Given the description of an element on the screen output the (x, y) to click on. 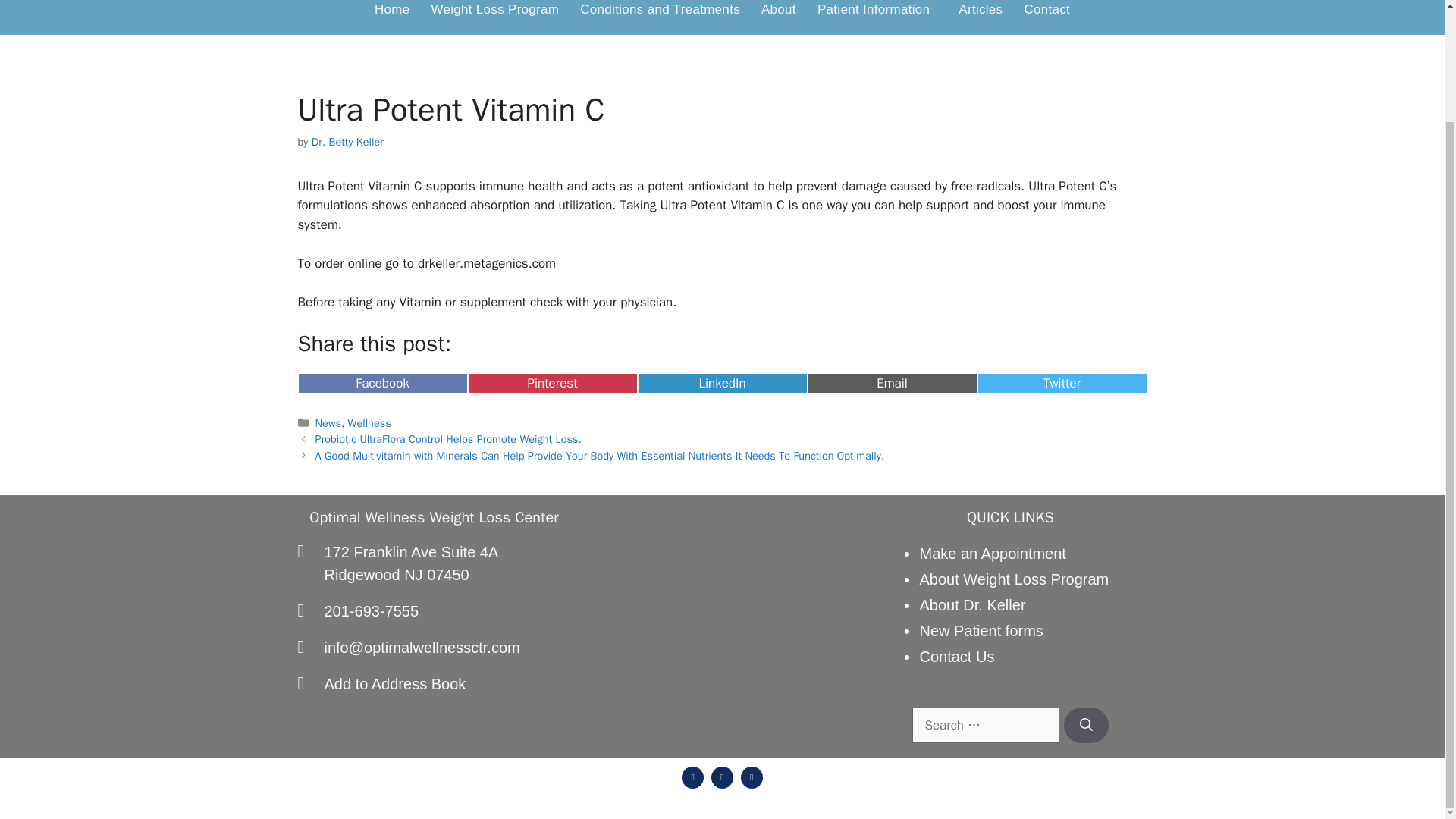
Weight Loss Program (494, 13)
Conditions and Treatments (660, 13)
New Patient forms (980, 630)
Search for: (985, 725)
Previous (433, 563)
Pinterest (447, 438)
LinkedIn (552, 383)
Facebook (721, 383)
View all posts by Dr. Betty Keller (382, 383)
Articles (347, 141)
About Dr. Keller (980, 13)
Contact Us (971, 605)
Twitter (956, 656)
